Given the description of an element on the screen output the (x, y) to click on. 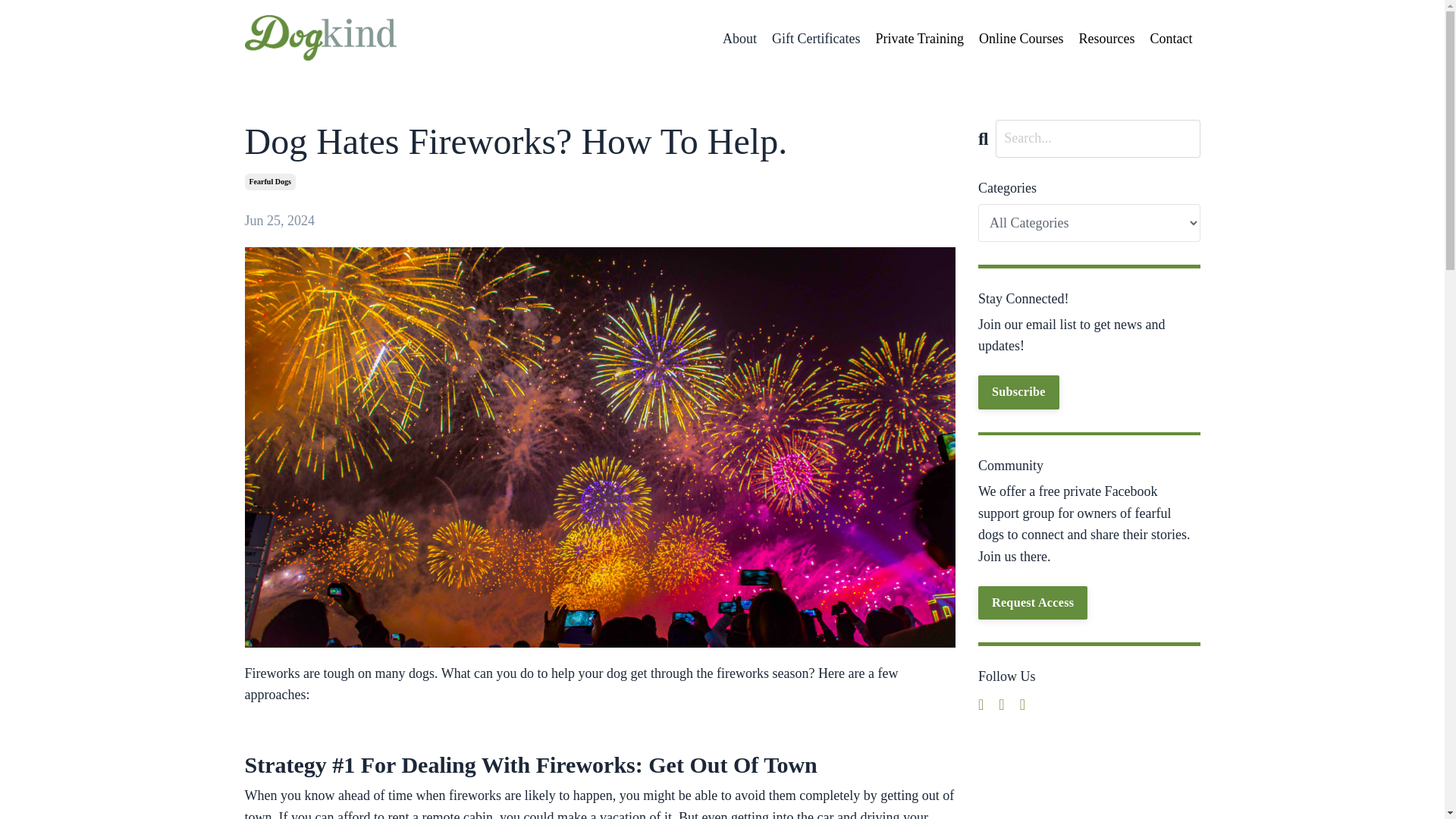
Contact (1171, 38)
Request Access (1032, 602)
Gift Certificates (815, 38)
Online Courses (1021, 38)
Private Training (919, 38)
About (739, 38)
Resources (1106, 38)
Fearful Dogs (269, 181)
Subscribe (1018, 391)
